Given the description of an element on the screen output the (x, y) to click on. 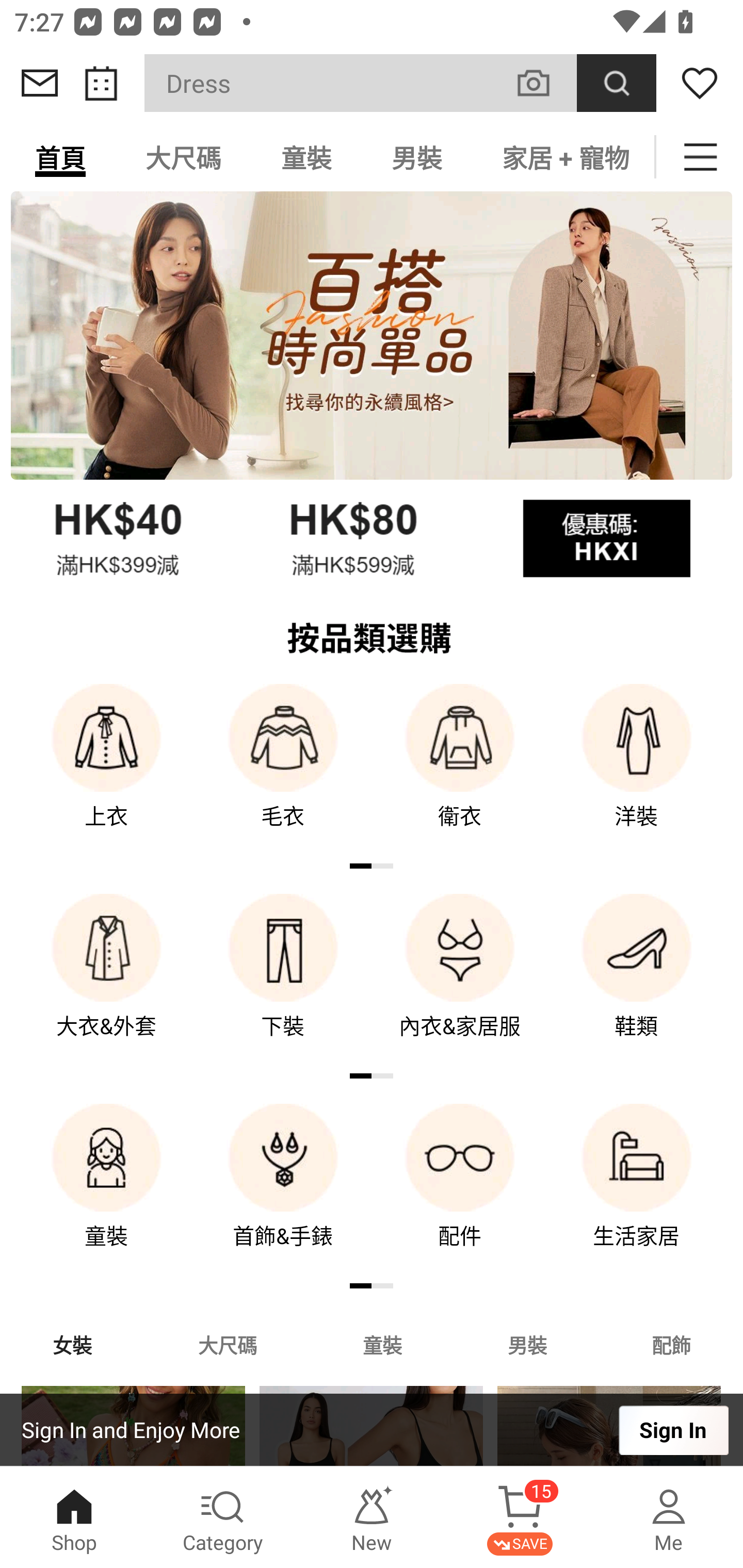
Wishlist (699, 82)
VISUAL SEARCH (543, 82)
首頁 (60, 156)
大尺碼 (183, 156)
童裝 (306, 156)
男裝 (416, 156)
家居 + 寵物 (563, 156)
上衣 (105, 769)
毛衣 (282, 769)
衛衣 (459, 769)
洋裝 (636, 769)
大衣&外套 (105, 979)
下裝 (282, 979)
內衣&家居服 (459, 979)
鞋類 (636, 979)
童裝 (105, 1189)
首飾&手錶 (282, 1189)
配件 (459, 1189)
生活家居 (636, 1189)
女裝 (72, 1344)
大尺碼 (226, 1344)
童裝 (381, 1344)
男裝 (527, 1344)
配飾 (671, 1344)
Sign In and Enjoy More Sign In (371, 1429)
Category (222, 1517)
New (371, 1517)
Cart 15 SAVE (519, 1517)
Me (668, 1517)
